Given the description of an element on the screen output the (x, y) to click on. 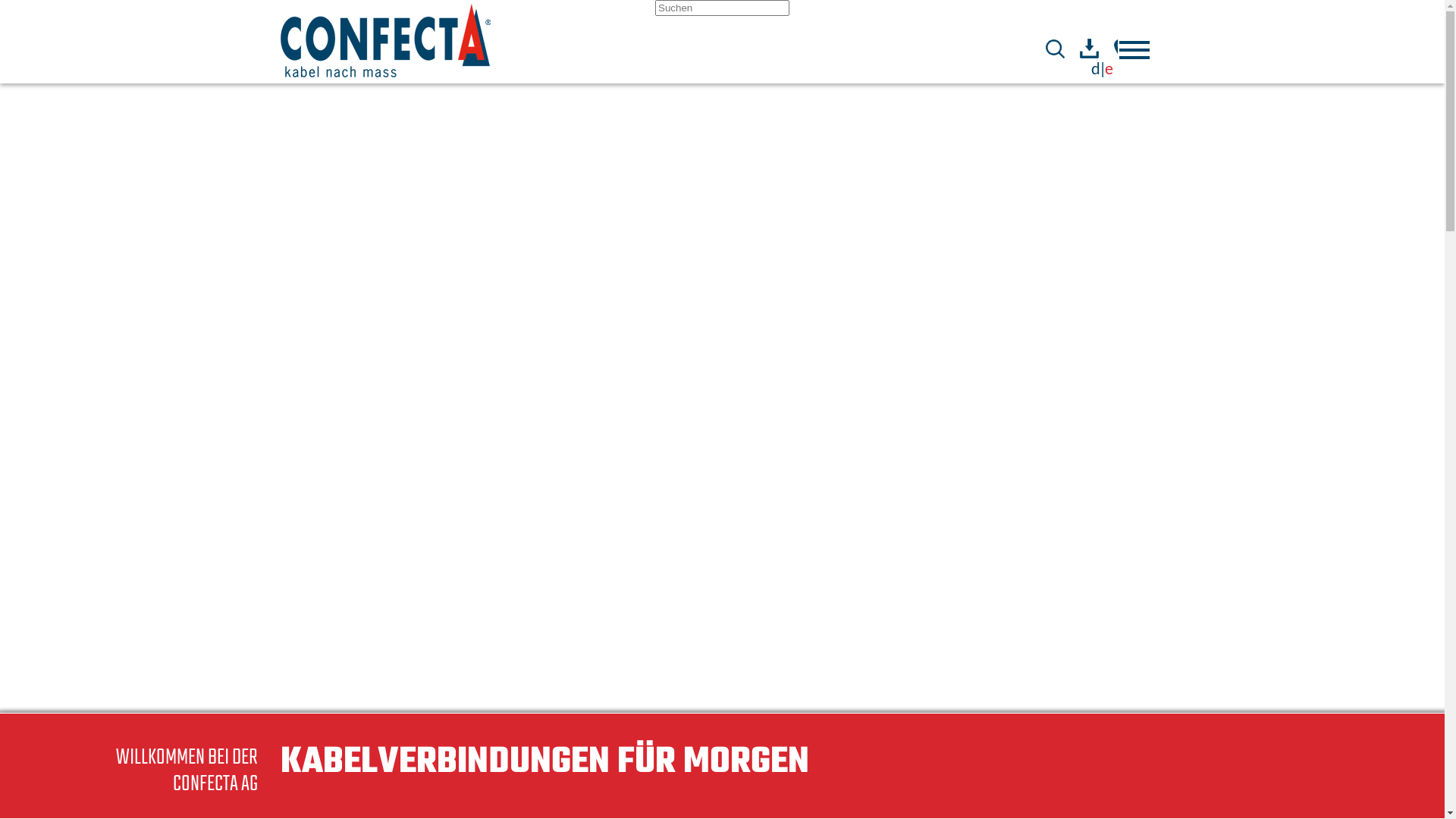
e Element type: text (1108, 68)
